Given the description of an element on the screen output the (x, y) to click on. 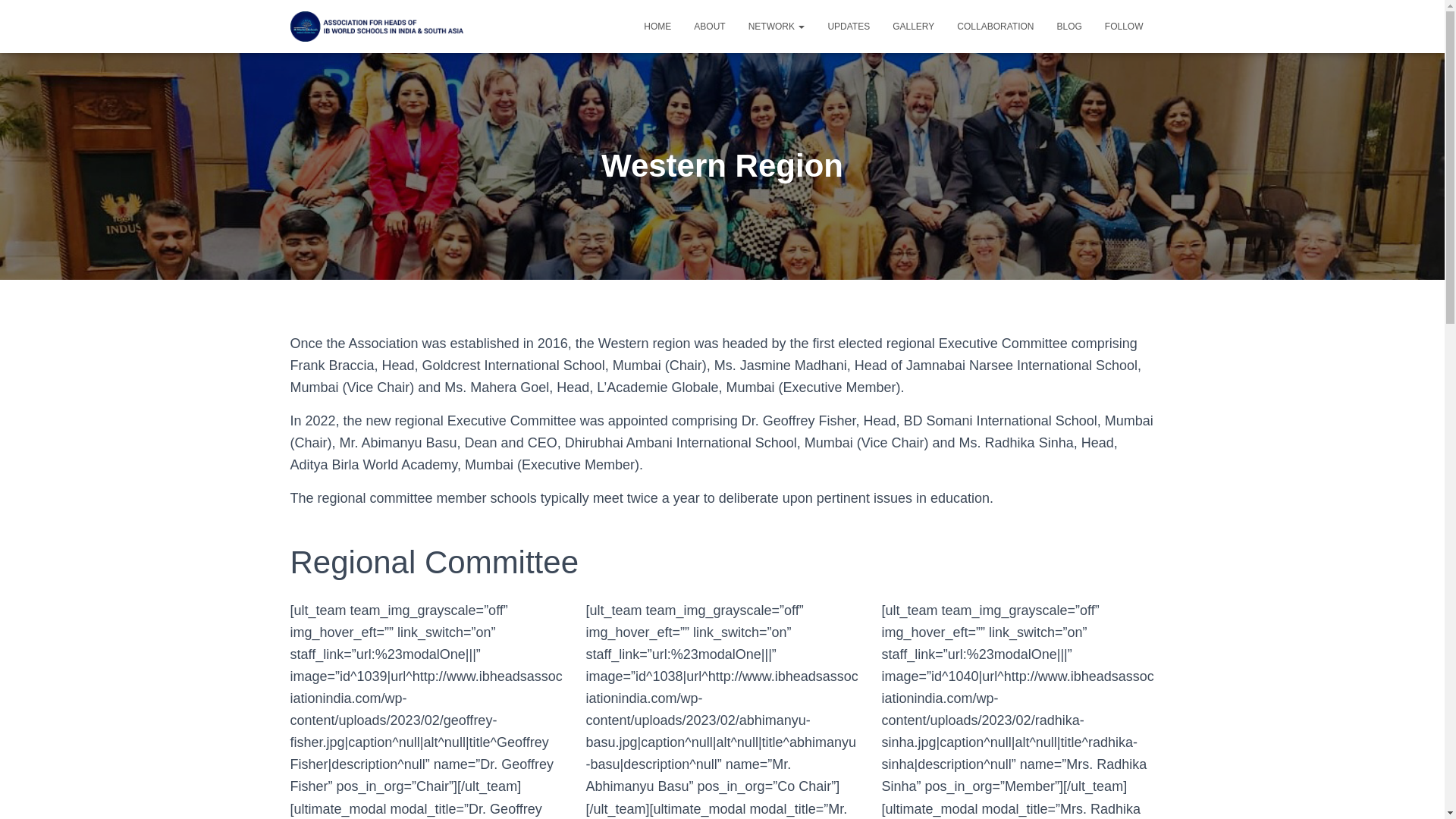
Gallery (912, 26)
Collaboration (994, 26)
Follow (1123, 26)
BLOG (1069, 26)
About (709, 26)
Updates (847, 26)
HOME (656, 26)
ABOUT (709, 26)
FOLLOW (1123, 26)
NETWORK (776, 26)
Association for Heads of IB World Schools (379, 25)
COLLABORATION (994, 26)
Home (656, 26)
GALLERY (912, 26)
Blog (1069, 26)
